Given the description of an element on the screen output the (x, y) to click on. 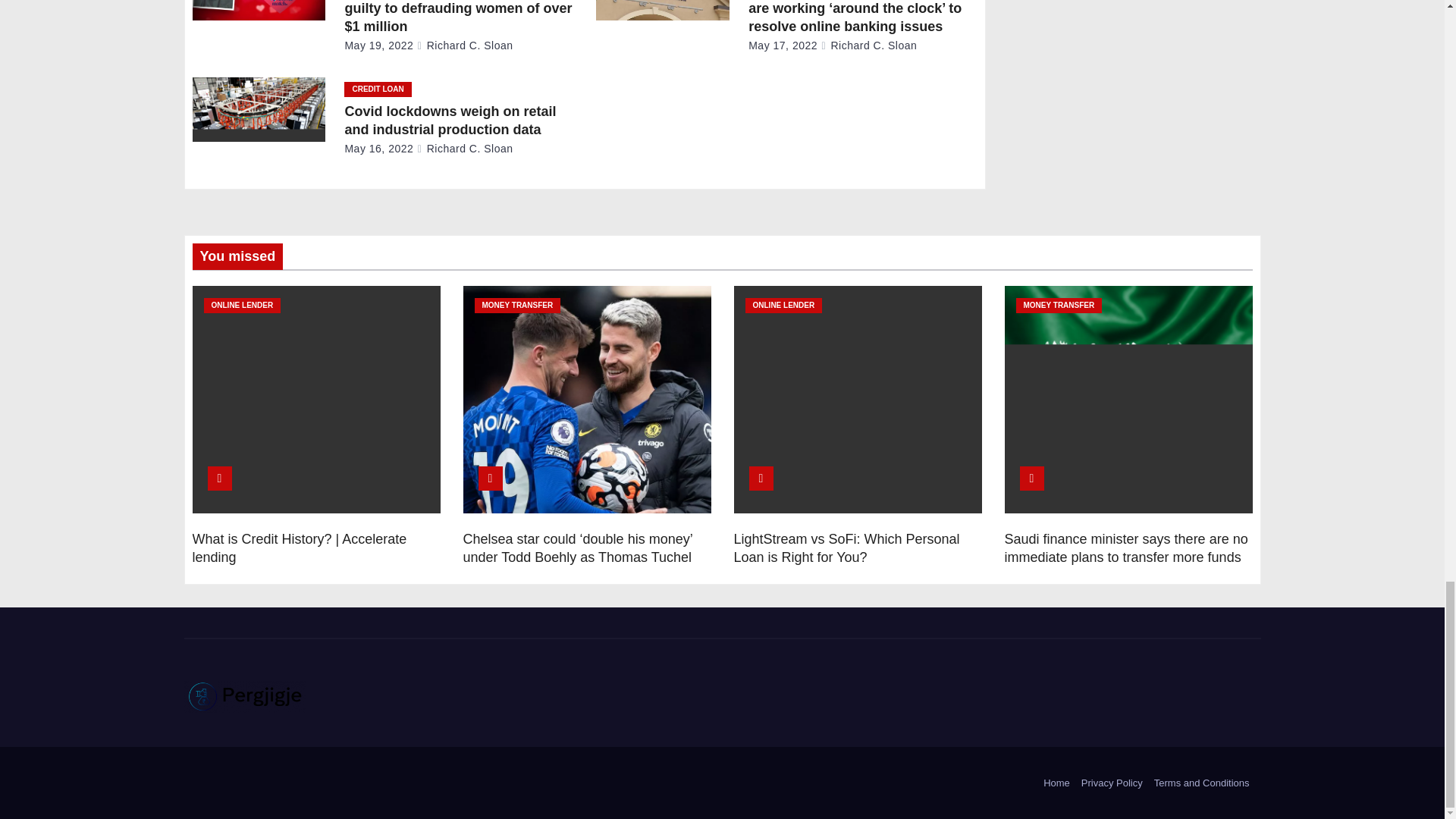
May 19, 2022 (378, 45)
Richard C. Sloan (464, 45)
